Given the description of an element on the screen output the (x, y) to click on. 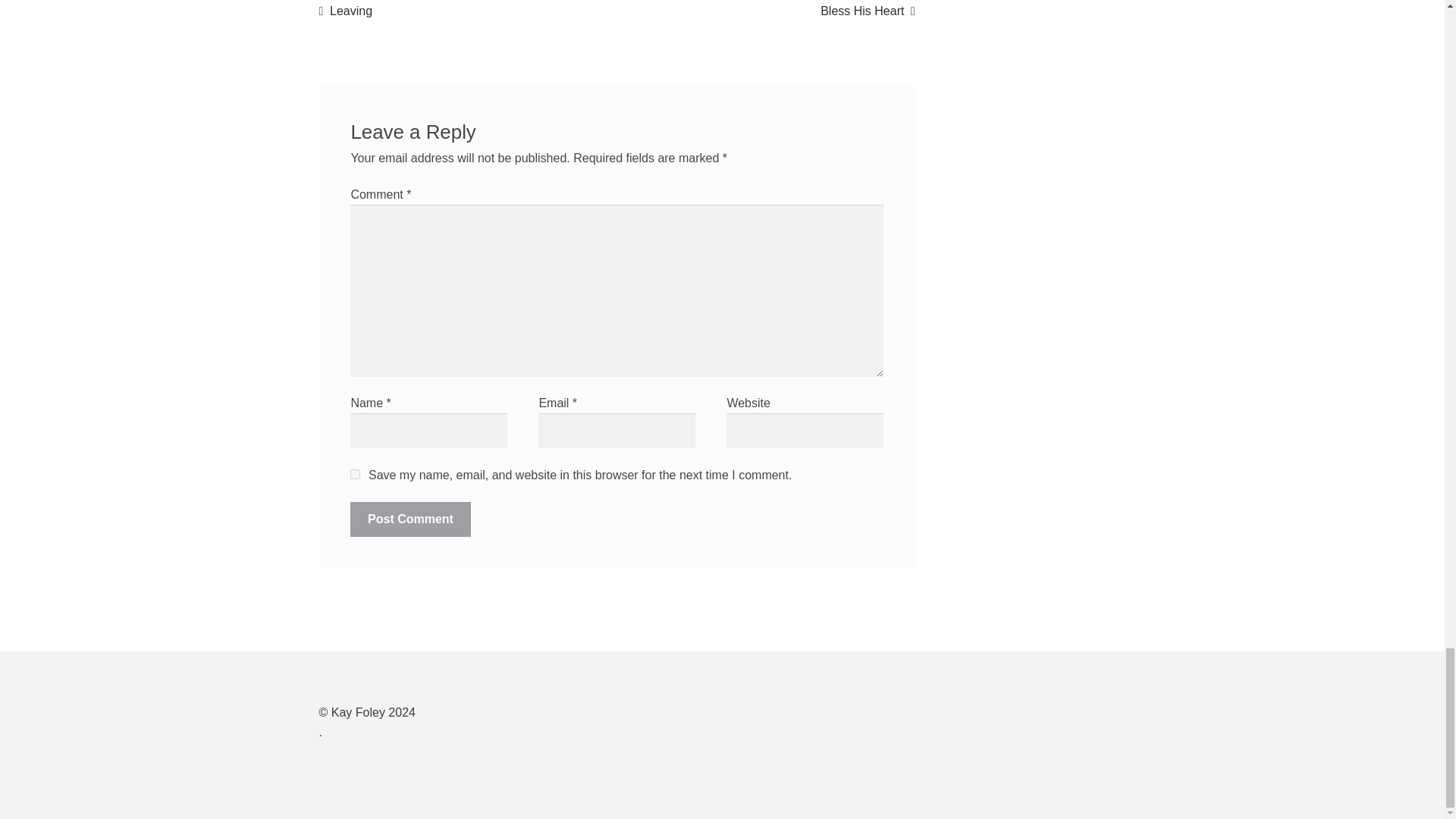
Post Comment (868, 11)
Post Comment (345, 11)
yes (410, 519)
